Given the description of an element on the screen output the (x, y) to click on. 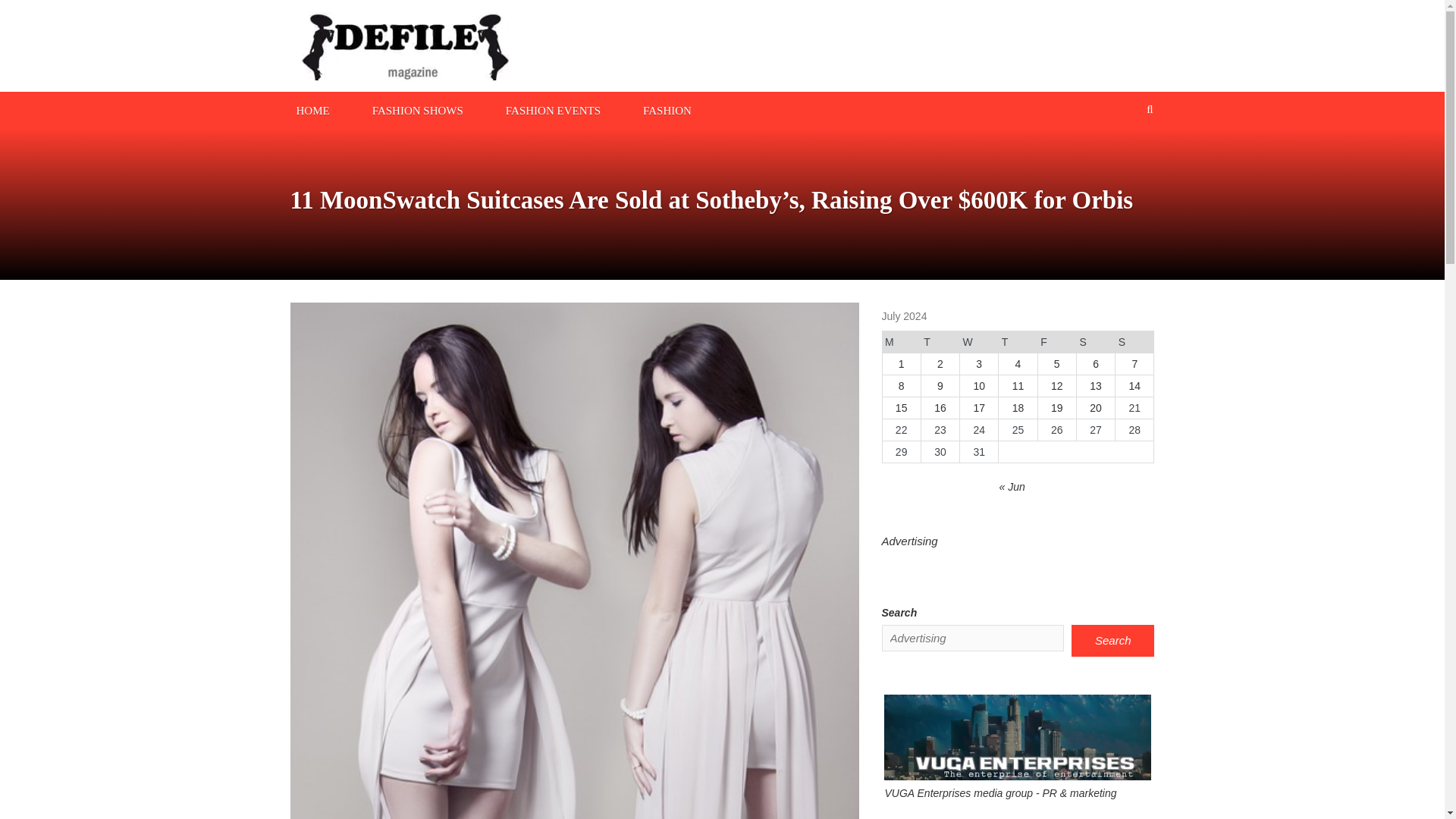
FASHION EVENTS (553, 109)
11 (1018, 386)
Monday (901, 341)
Tuesday (939, 341)
Thursday (1017, 341)
Wednesday (978, 341)
Friday (1055, 341)
10 (978, 386)
Saturday (1095, 341)
FASHION SHOWS (417, 109)
HOME (311, 109)
FASHION (667, 109)
Sunday (1134, 341)
